Given the description of an element on the screen output the (x, y) to click on. 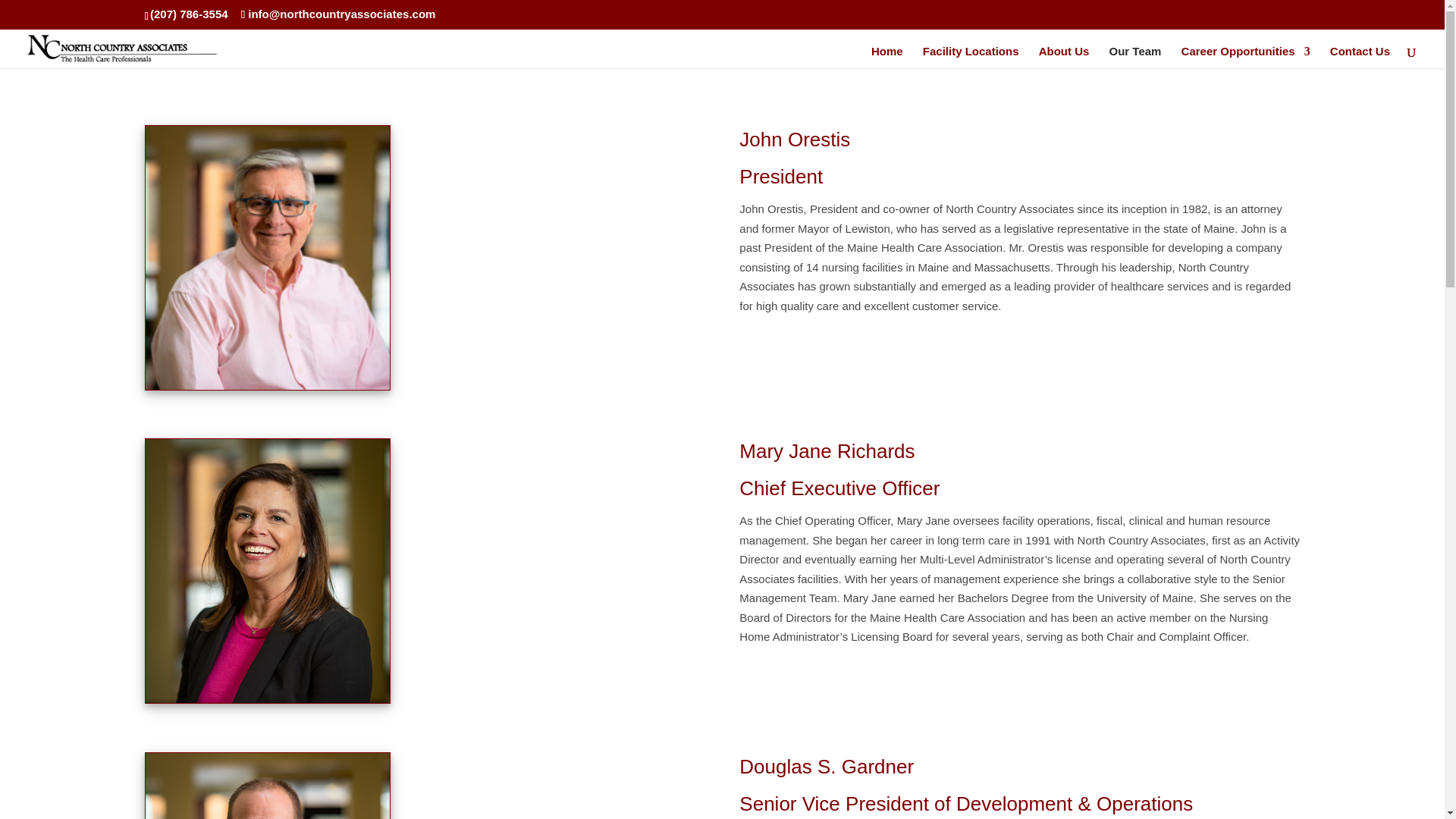
Contact Us (1360, 56)
About Us (1064, 56)
Career Opportunities (1245, 56)
Home (886, 56)
Our Team (1135, 56)
Facility Locations (971, 56)
